Given the description of an element on the screen output the (x, y) to click on. 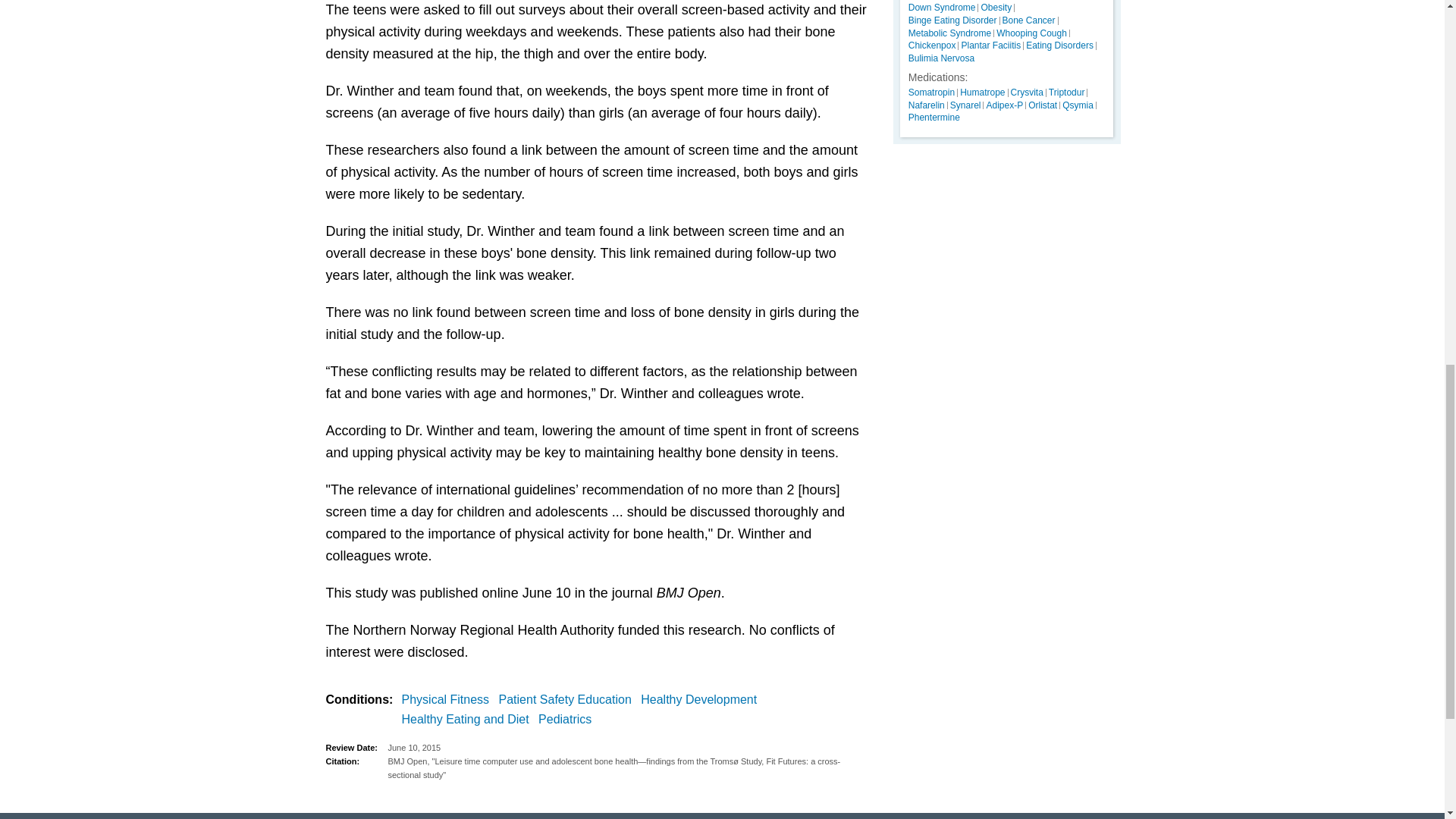
Pediatrics (567, 719)
Patient Safety Education (568, 700)
Healthy Development (701, 700)
Healthy Eating and Diet (468, 719)
Physical Fitness (448, 700)
